Given the description of an element on the screen output the (x, y) to click on. 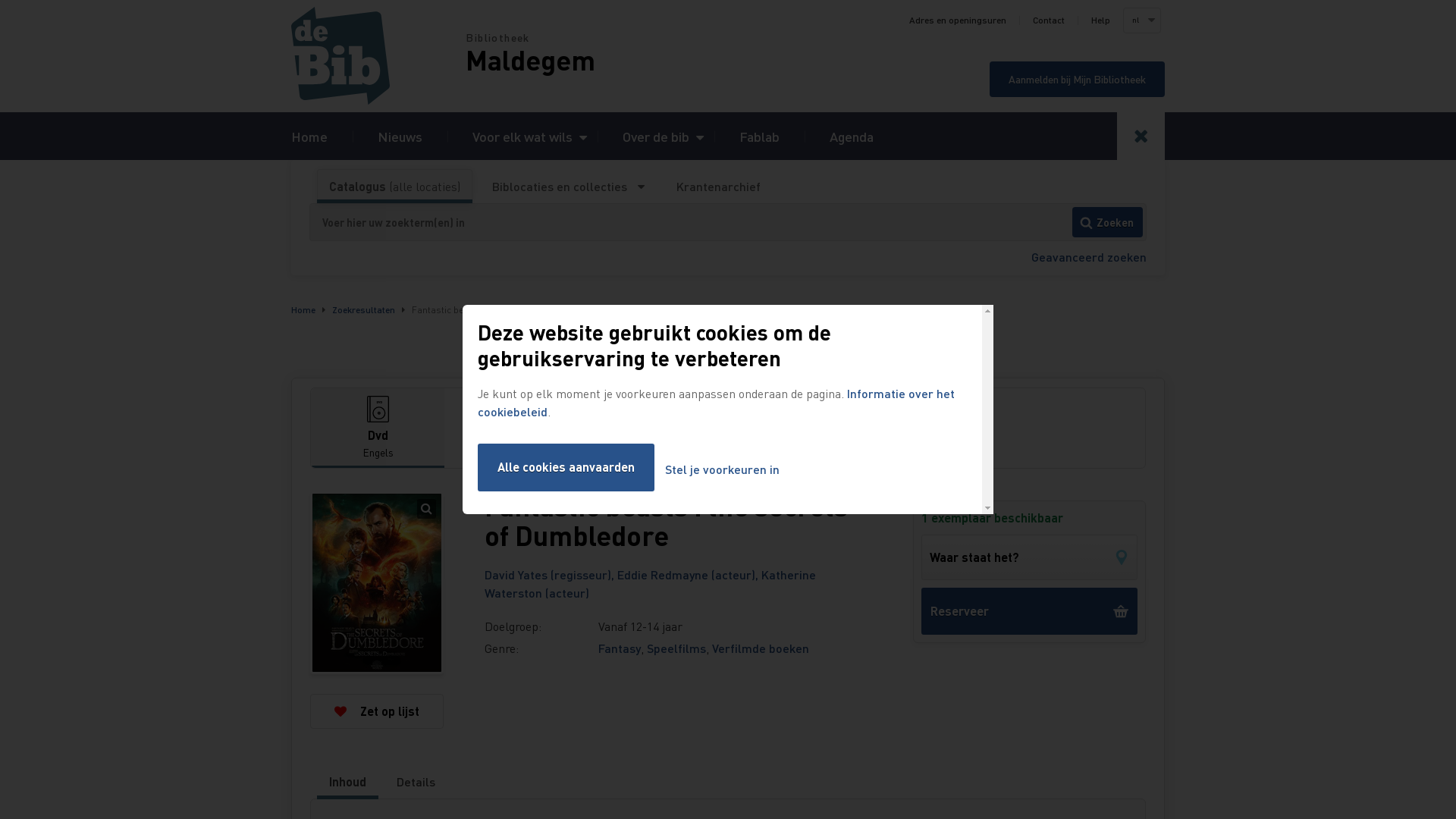
Informatie over het cookiebeleid Element type: text (715, 402)
Home Element type: hover (378, 55)
nl Element type: text (1140, 20)
Eddie Redmayne (acteur), Element type: text (689, 574)
Aanmelden bij Mijn Bibliotheek Element type: text (1076, 79)
Nieuws Element type: text (399, 136)
Catalogus (alle locaties) Element type: text (394, 186)
Toggle search Element type: hover (1140, 136)
Help Element type: text (1100, 20)
Verfilmde boeken Element type: text (760, 647)
Zet op lijst Element type: text (376, 710)
Inhoud Element type: text (347, 781)
David Yates (regisseur), Element type: text (550, 574)
Katherine Waterston (acteur) Element type: text (649, 583)
Stel je voorkeuren in Element type: text (722, 469)
Contact Element type: text (1048, 20)
Waar staat het? Element type: text (1029, 557)
Zoekresultaten Element type: text (363, 309)
Geavanceerd zoeken Element type: text (1088, 256)
Krantenarchief Element type: text (718, 186)
Details Element type: text (415, 781)
Overslaan en naar zoeken gaan Element type: text (0, 0)
Alle cookies aanvaarden Element type: text (565, 466)
Home Element type: text (309, 136)
Home Element type: text (303, 309)
Agenda Element type: text (851, 136)
Biblocaties en collecties Element type: text (567, 186)
Reserveer Element type: text (1029, 610)
Fantasy Element type: text (619, 647)
Adres en openingsuren Element type: text (957, 20)
Fablab Element type: text (759, 136)
Zoeken Element type: text (1107, 222)
Speelfilms Element type: text (676, 647)
